Given the description of an element on the screen output the (x, y) to click on. 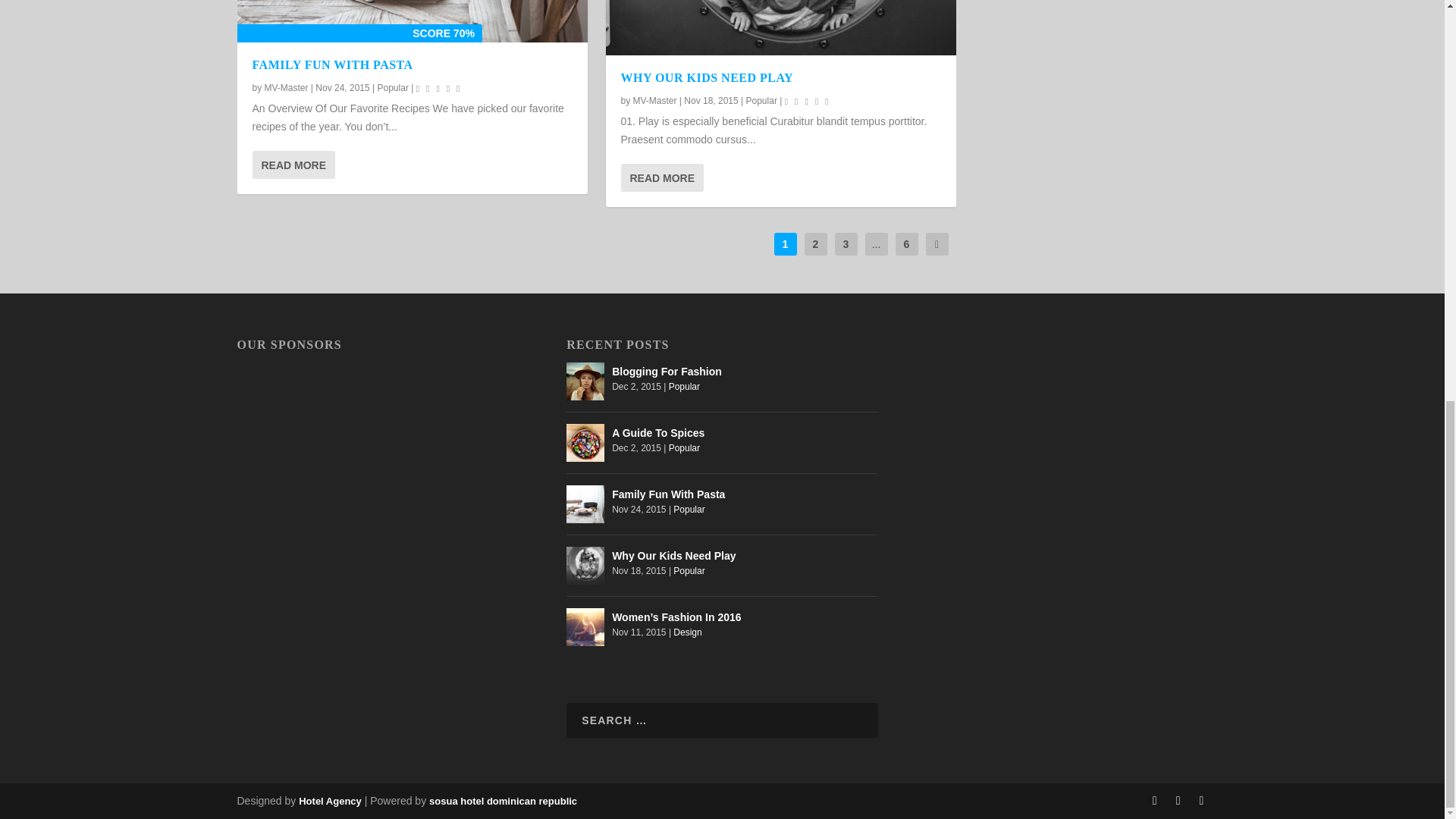
Rating: 2.50 (808, 100)
Posts by MV-Master (655, 100)
Rating: 4.00 (440, 87)
Family Fun With Pasta (410, 21)
Why Our Kids Need Play (780, 27)
Posts by MV-Master (286, 87)
